Given the description of an element on the screen output the (x, y) to click on. 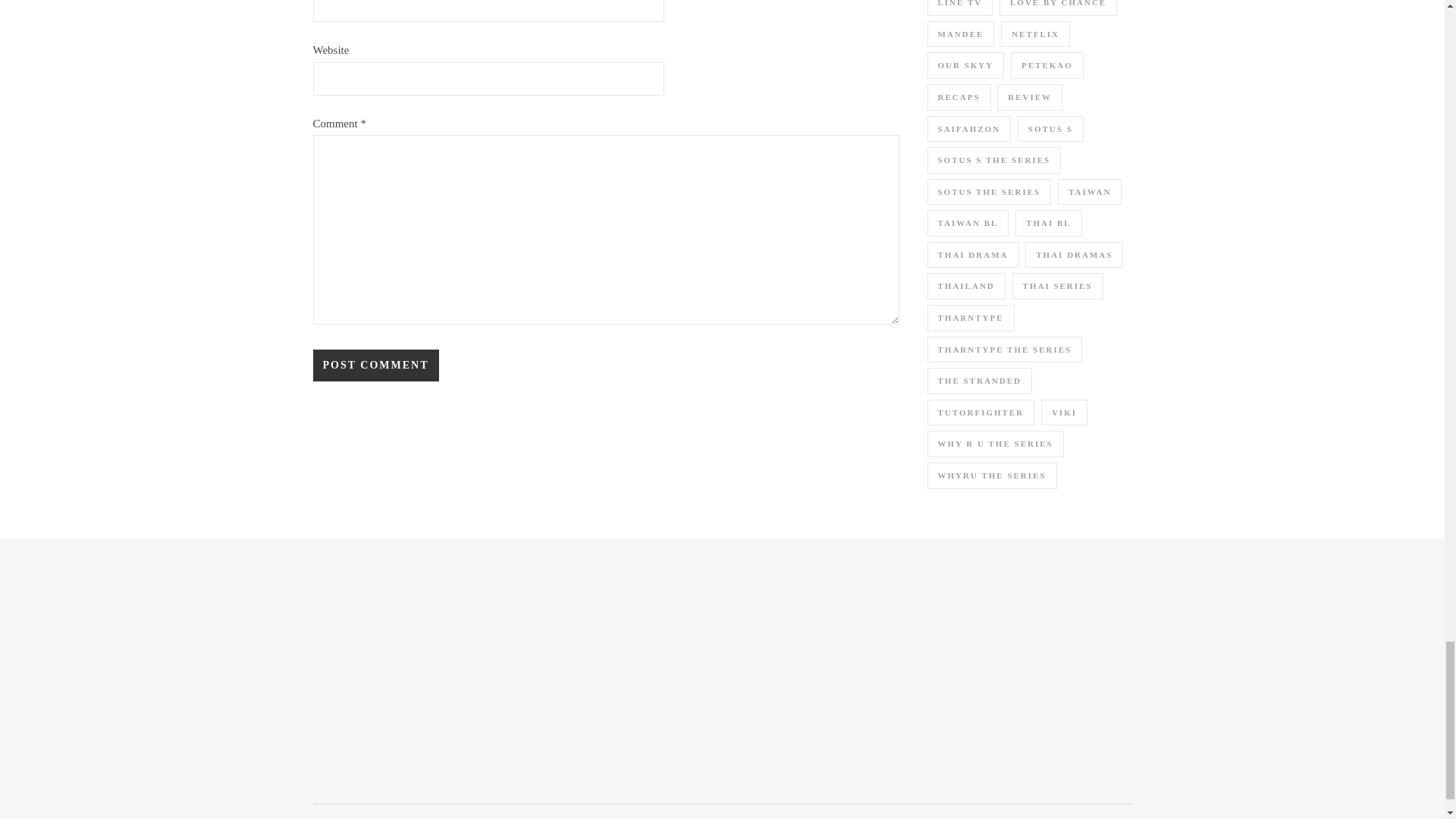
Post Comment (375, 365)
